Given the description of an element on the screen output the (x, y) to click on. 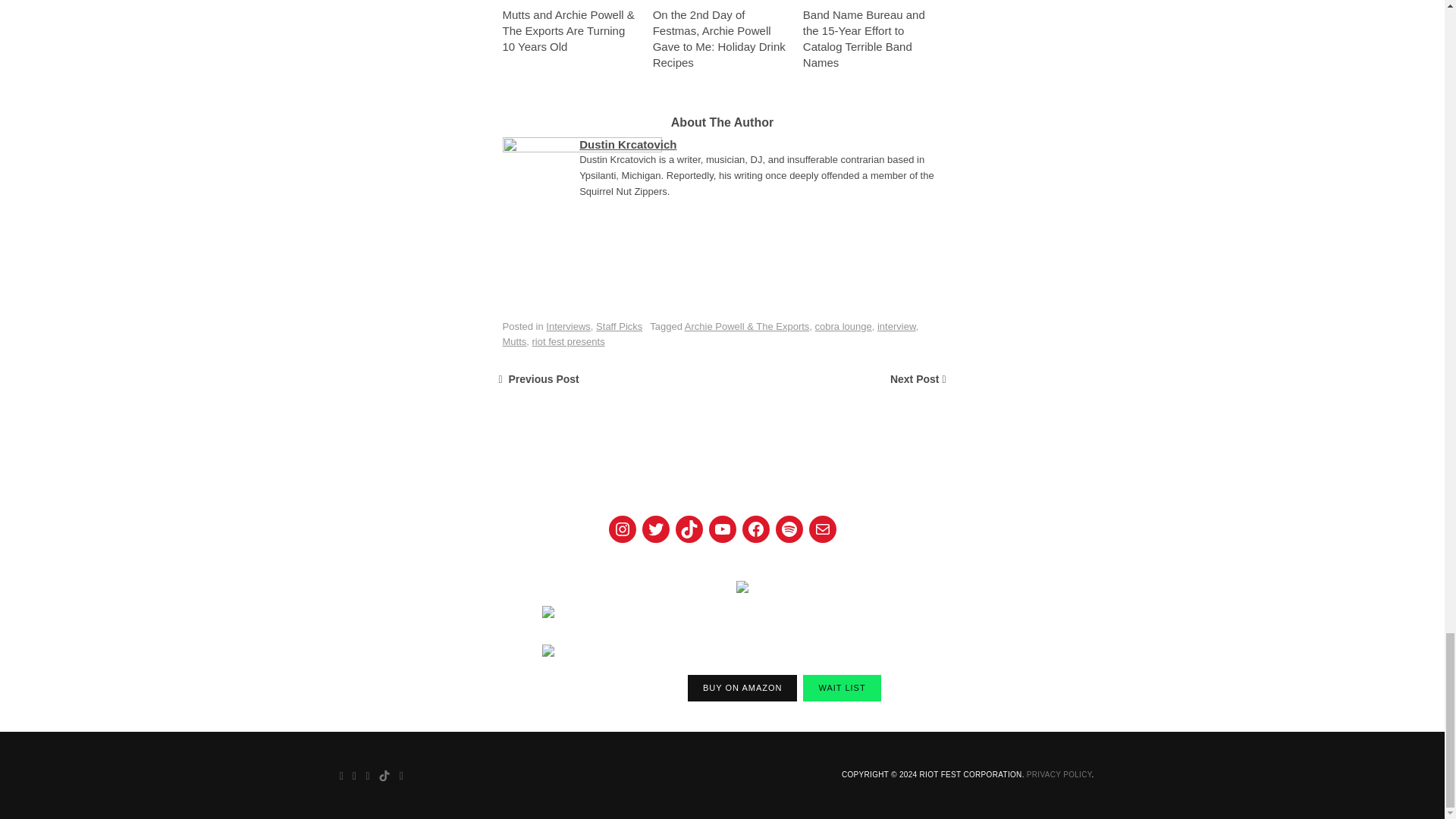
Dustin Krcatovich (628, 144)
